Given the description of an element on the screen output the (x, y) to click on. 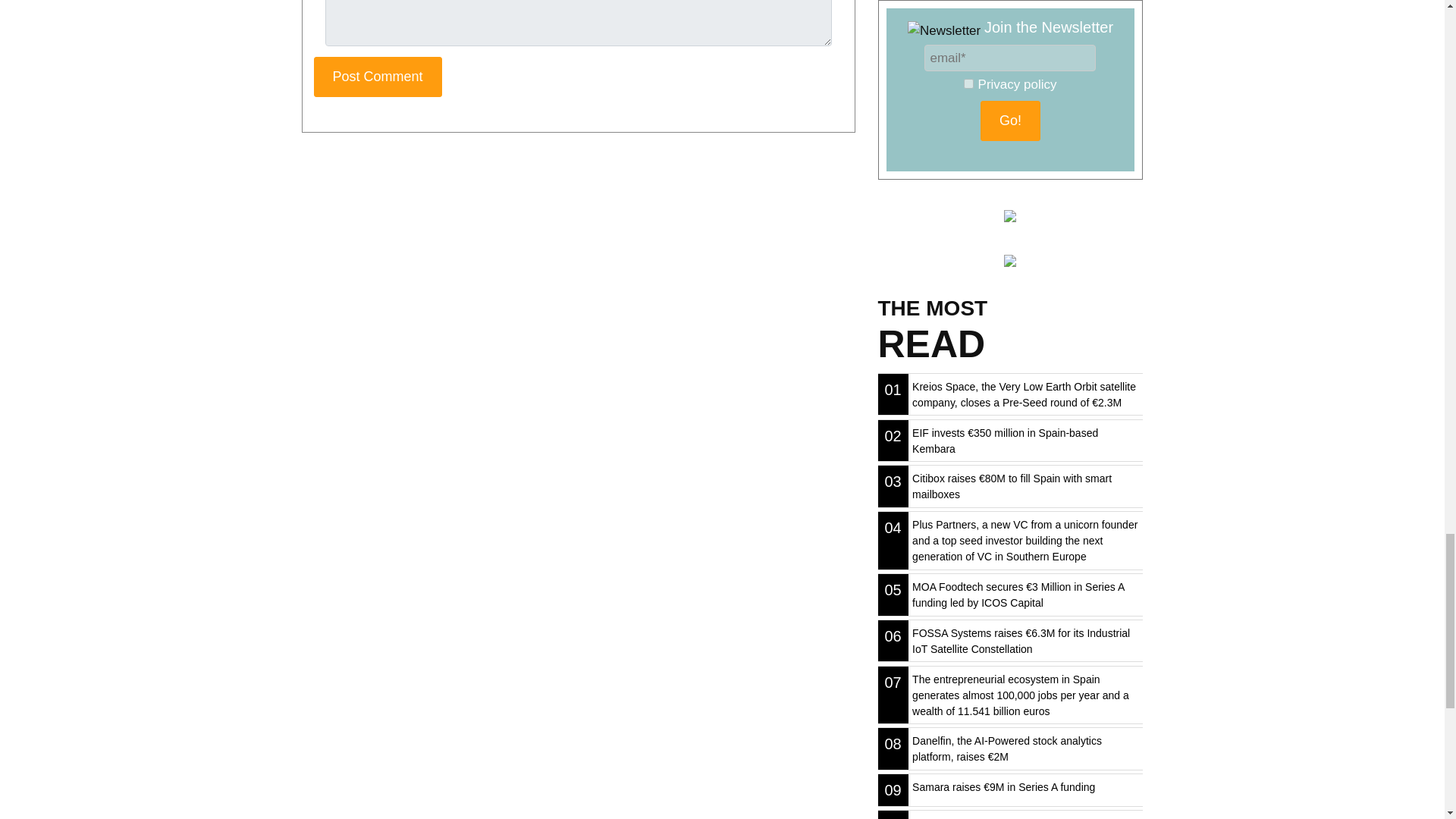
Post Comment (378, 76)
1 (968, 83)
Go! (1010, 120)
